Given the description of an element on the screen output the (x, y) to click on. 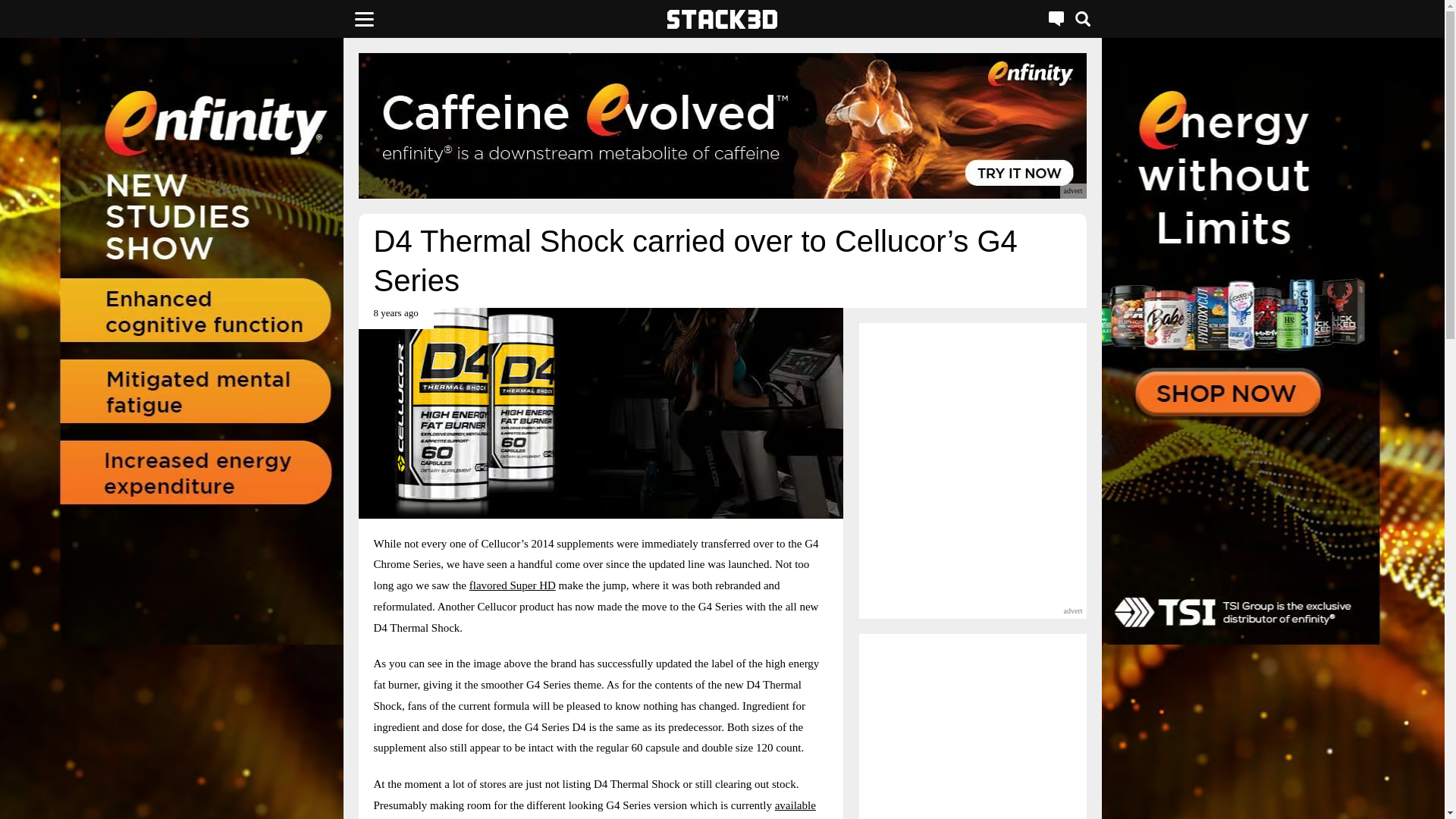
flavored Super HD (512, 585)
August 4th 2015 (395, 318)
available direct (593, 809)
